Given the description of an element on the screen output the (x, y) to click on. 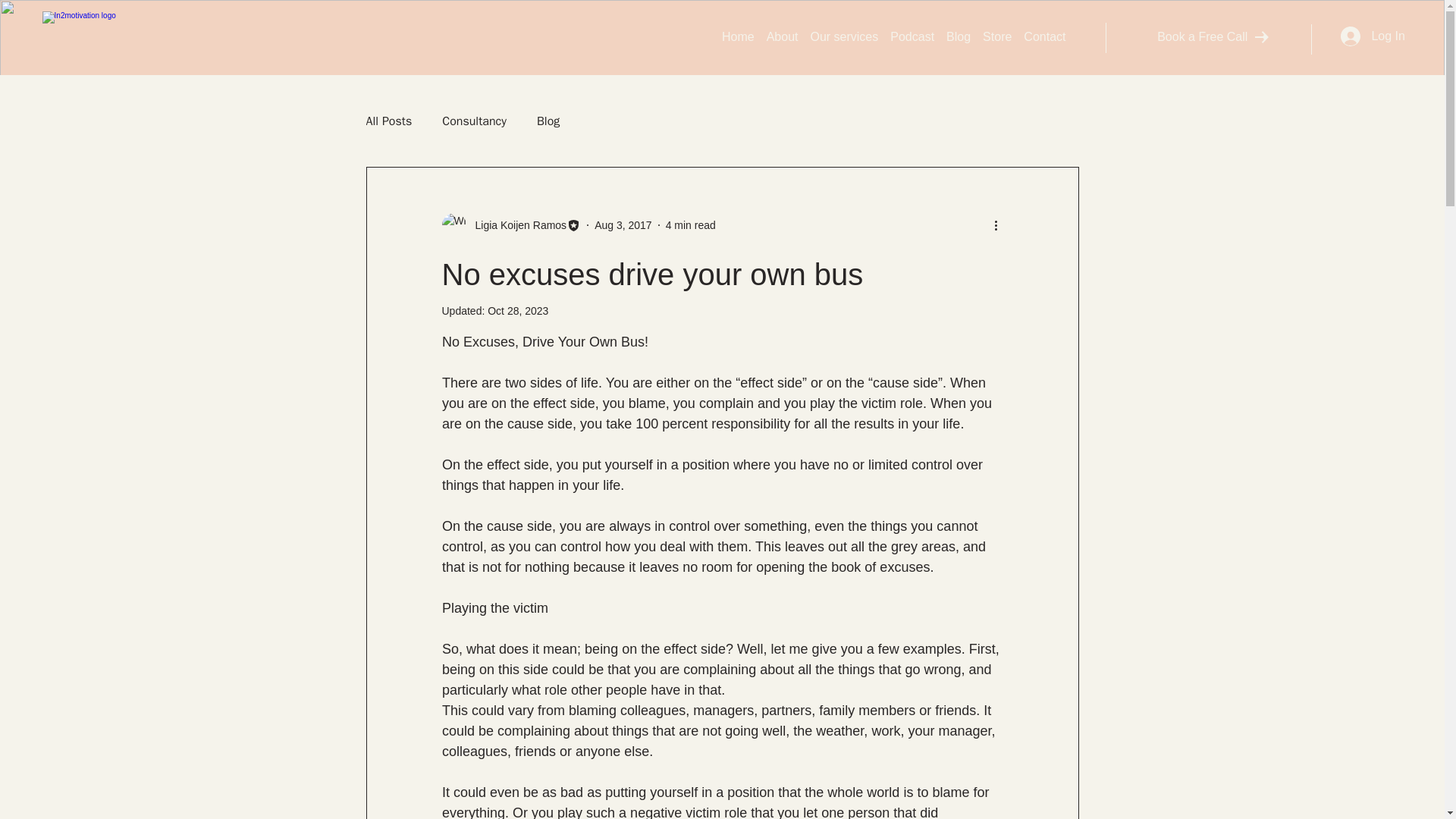
Oct 28, 2023 (517, 310)
Consultancy (474, 121)
4 min read (690, 224)
Blog (548, 121)
Book a Free Call (1213, 37)
Blog (957, 36)
Home (738, 36)
Ligia Koijen Ramos (515, 224)
Store (996, 36)
Contact (1043, 36)
